Given the description of an element on the screen output the (x, y) to click on. 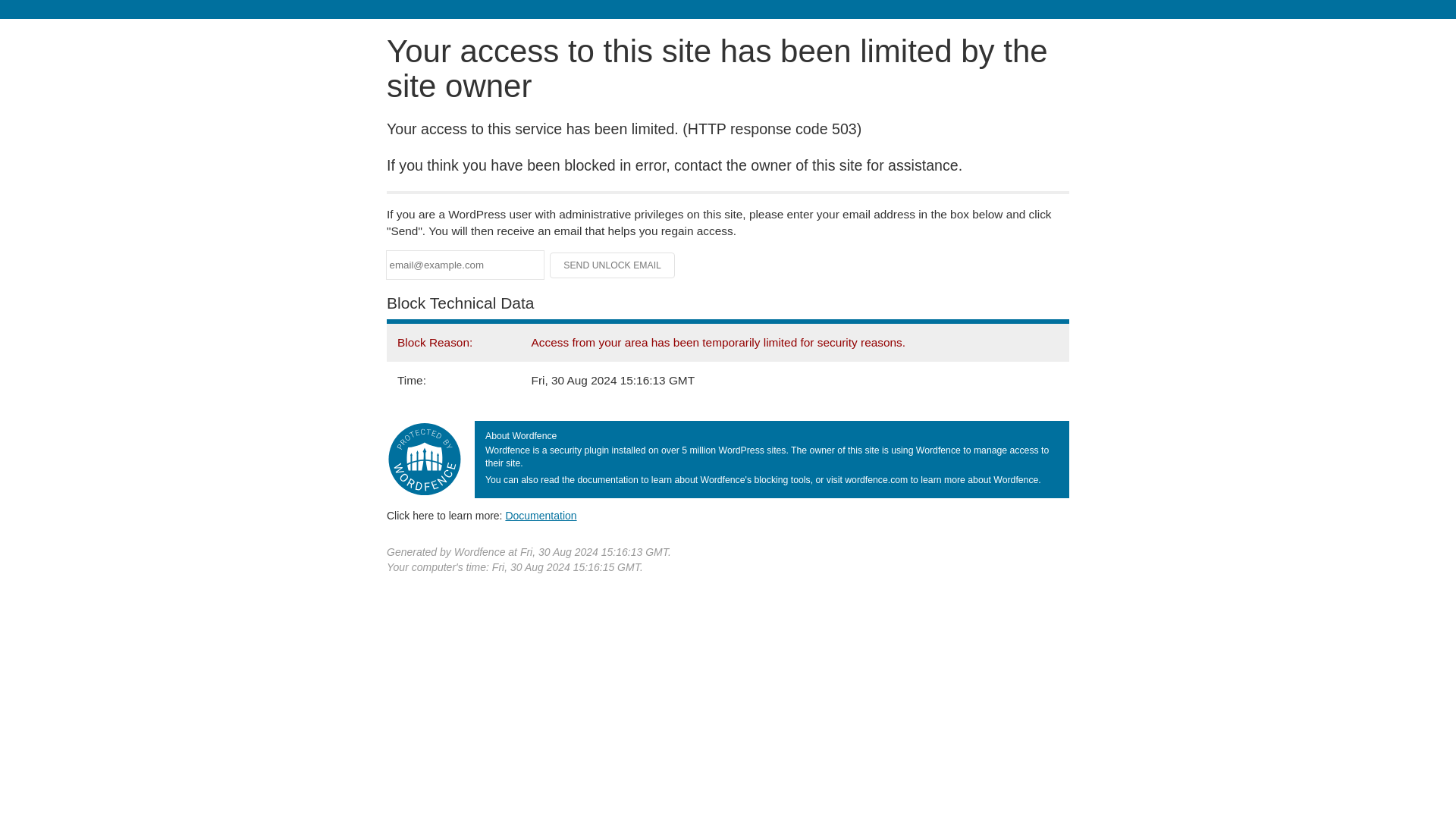
Documentation (540, 515)
Send Unlock Email (612, 265)
Send Unlock Email (612, 265)
